Given the description of an element on the screen output the (x, y) to click on. 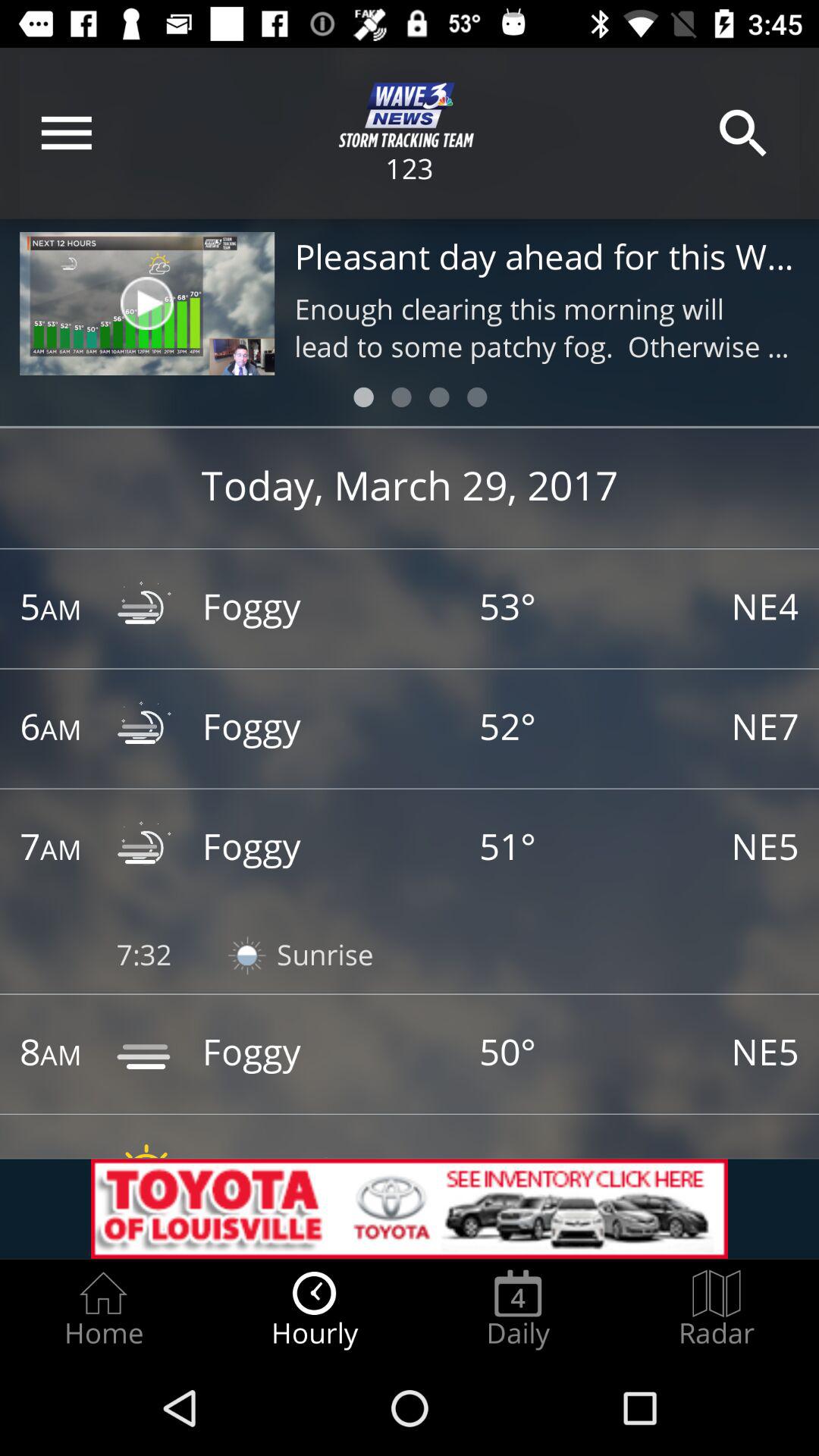
turn on item to the right of the hourly (518, 1309)
